Given the description of an element on the screen output the (x, y) to click on. 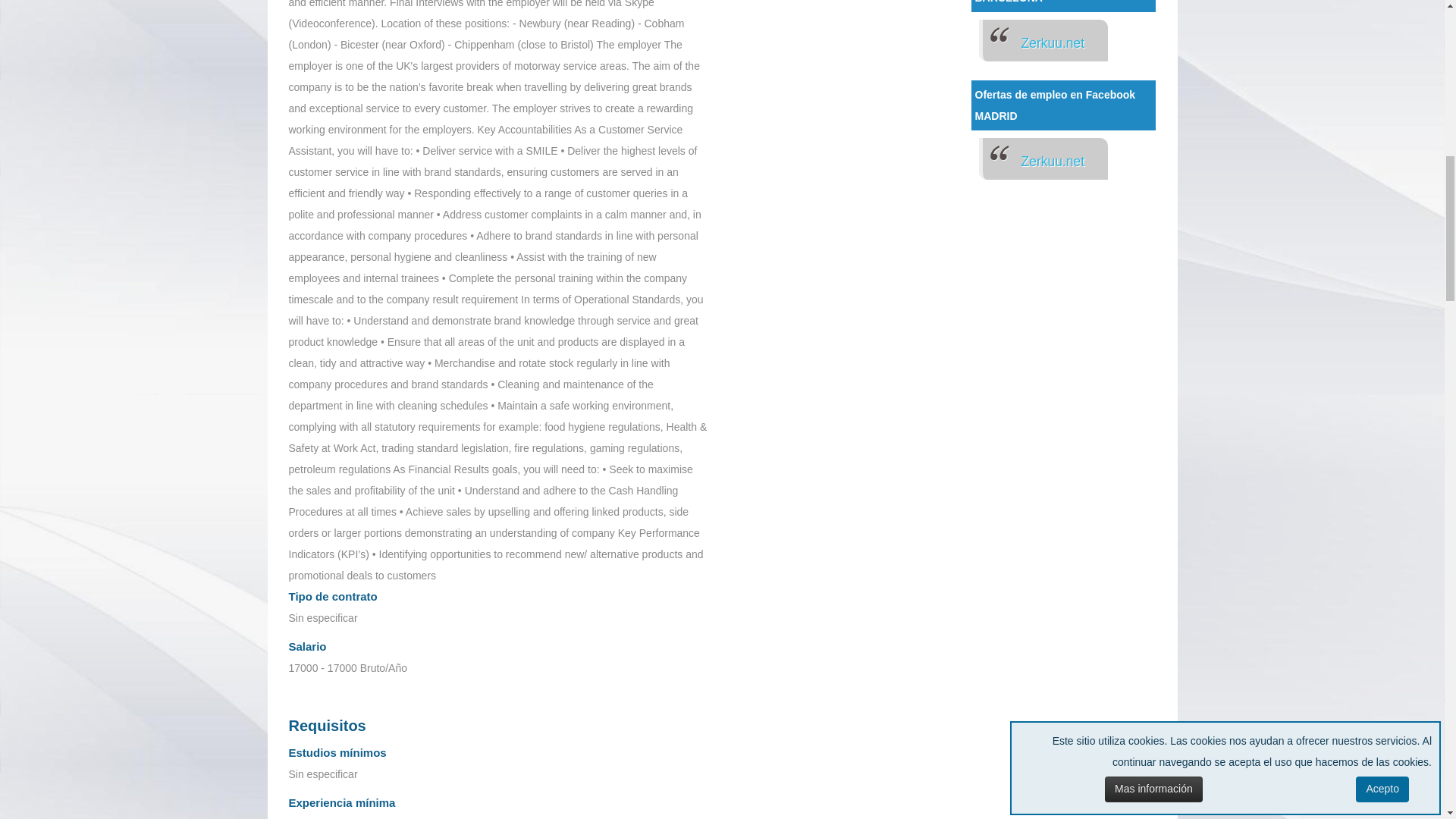
Zerkuu.net (1052, 160)
Zerkuu.net (1052, 43)
